Given the description of an element on the screen output the (x, y) to click on. 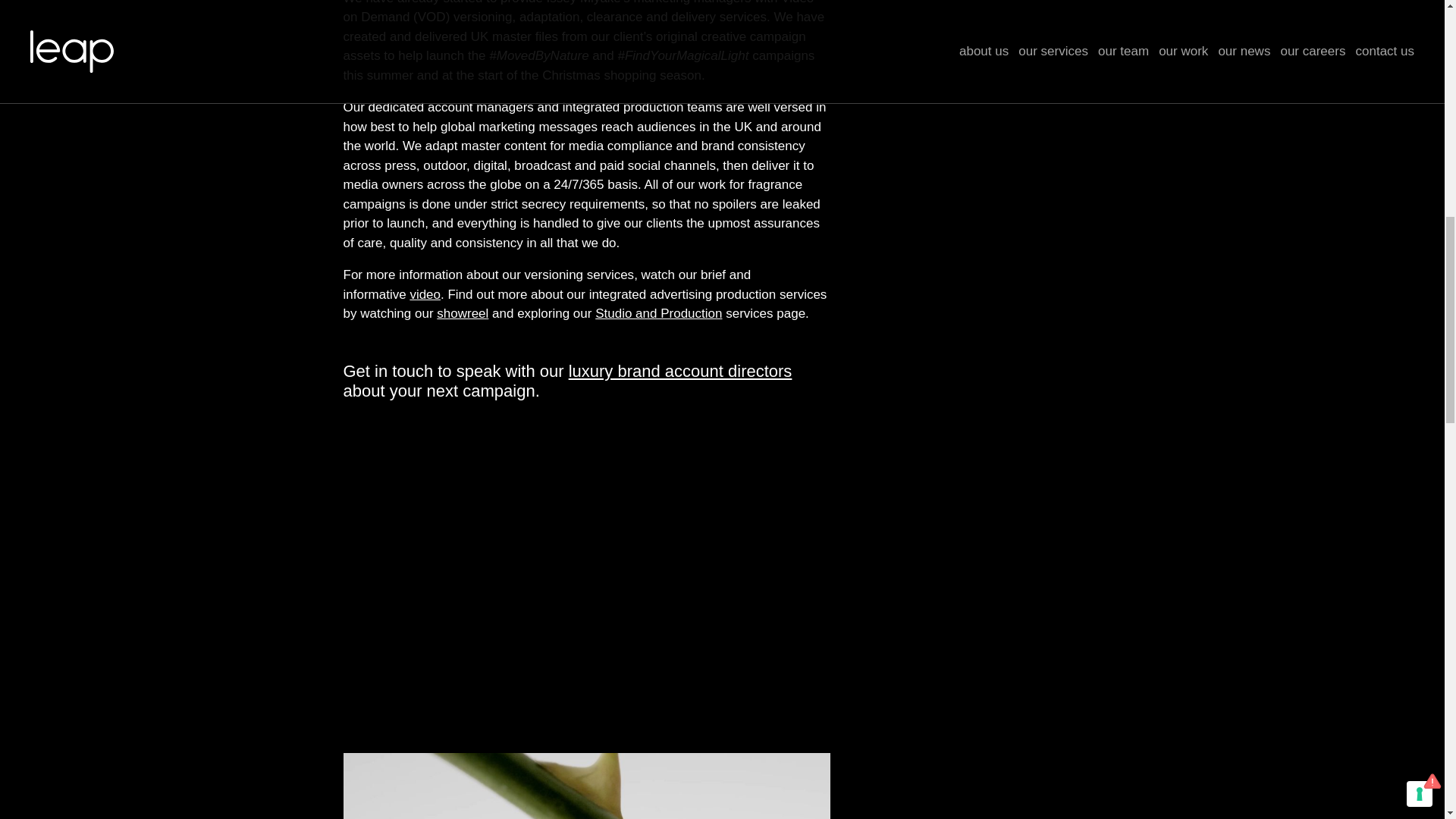
Studio and Production (658, 313)
showreel (461, 313)
luxury brand account directors (680, 370)
video (425, 294)
